Given the description of an element on the screen output the (x, y) to click on. 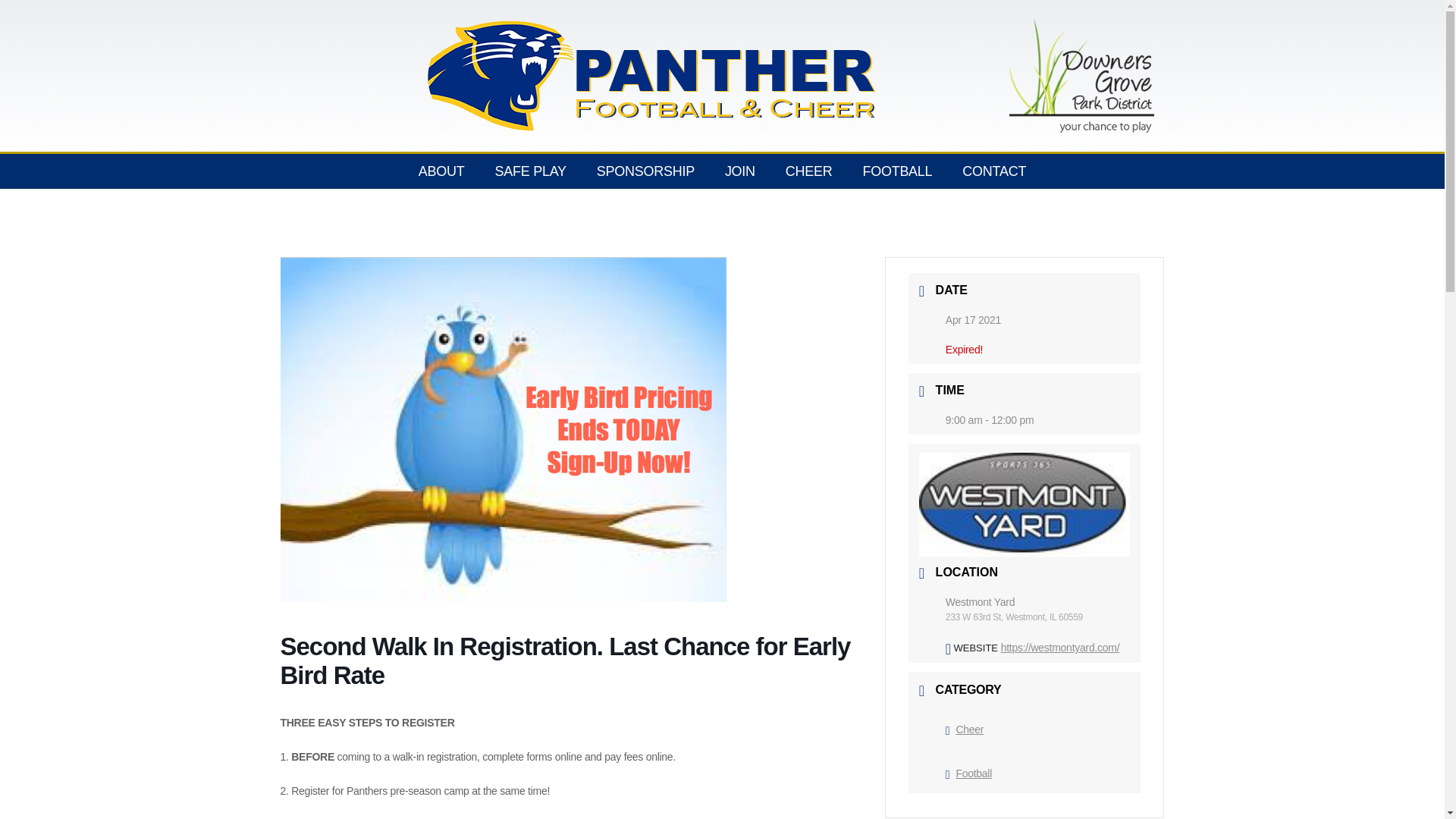
CONTACT (994, 171)
JOIN (740, 171)
SPONSORSHIP (645, 171)
ABOUT (441, 171)
CHEER (808, 171)
FOOTBALL (897, 171)
SAFE PLAY (530, 171)
